Given the description of an element on the screen output the (x, y) to click on. 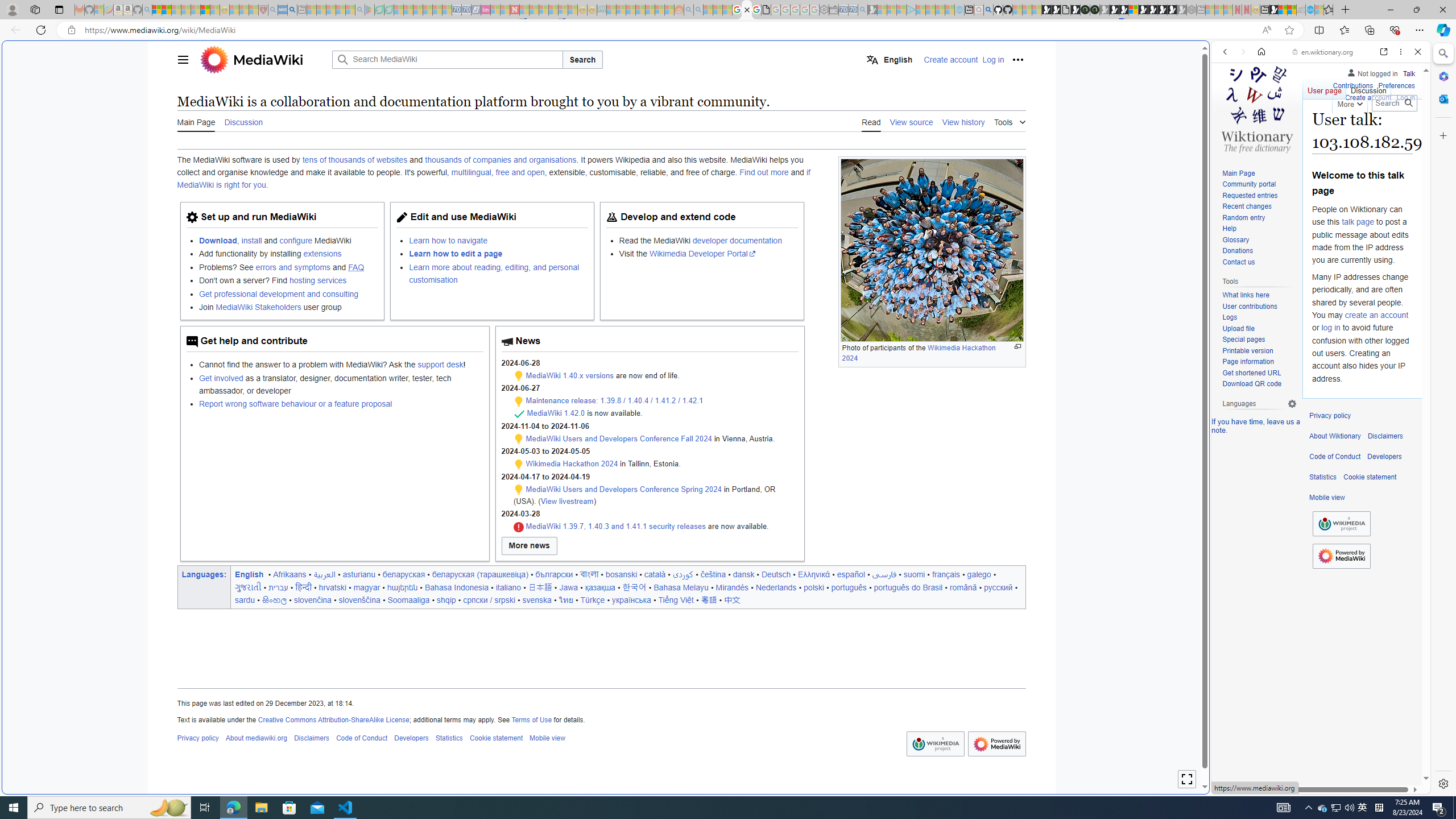
Release (518, 413)
if MediaWiki is right for you (493, 178)
Donations (1259, 251)
Visit the main page (1257, 108)
Wikimedia Foundation (1341, 524)
magyar (366, 587)
sardu (244, 599)
Printable version (1259, 351)
